Given the description of an element on the screen output the (x, y) to click on. 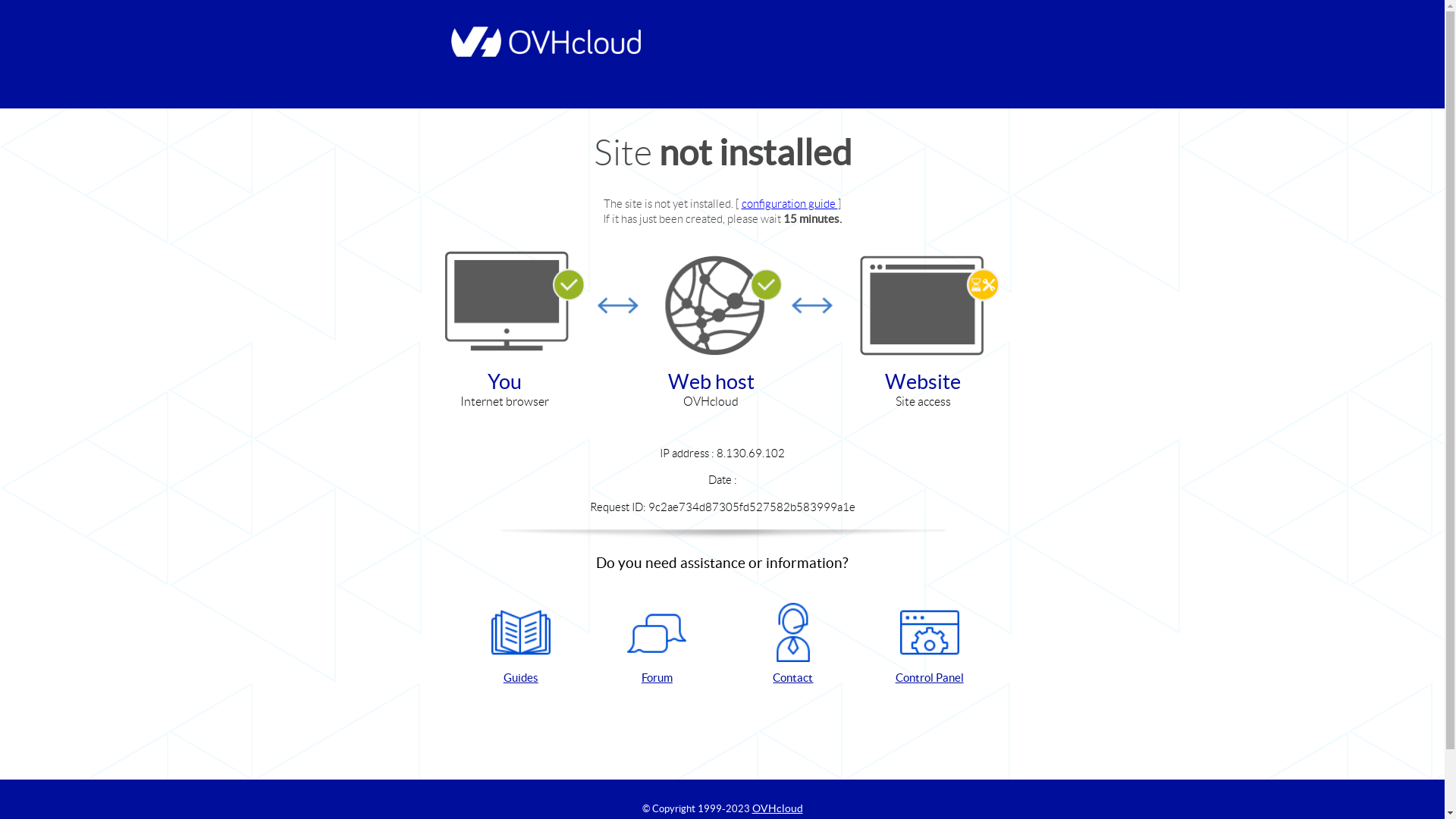
Control Panel Element type: text (929, 644)
Contact Element type: text (792, 644)
OVHcloud Element type: text (777, 808)
Guides Element type: text (520, 644)
configuration guide Element type: text (789, 203)
Forum Element type: text (656, 644)
